Given the description of an element on the screen output the (x, y) to click on. 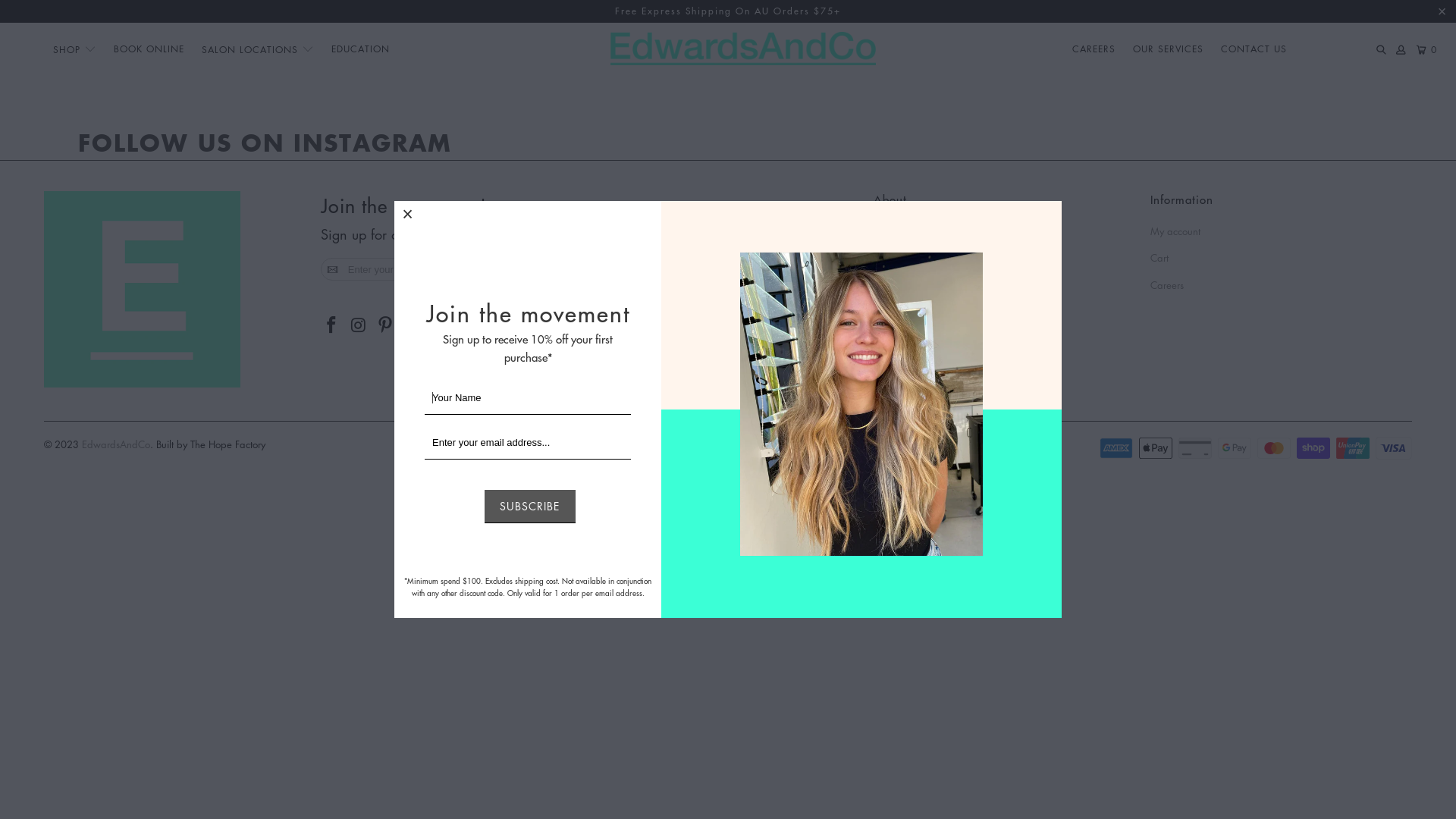
0 Element type: text (1427, 49)
BOOK ONLINE Element type: text (148, 49)
OUR SERVICES Element type: text (1167, 49)
Privacy Policy Element type: text (1004, 366)
EdwardsAndCo Element type: hover (742, 49)
Cart Element type: text (1281, 258)
EdwardsAndCo on Pinterest Element type: hover (385, 325)
EdwardsAndCo on Instagram Element type: hover (358, 325)
EDUCATION Element type: text (360, 49)
Search Element type: hover (1380, 49)
My Account  Element type: hover (1401, 49)
EdwardsAndCo Element type: text (115, 444)
FAQs Salon Appointments Element type: text (1004, 230)
FAQs Online Orders Element type: text (1004, 258)
CONTACT US Element type: text (1253, 49)
My account Element type: text (1281, 230)
Close Element type: hover (407, 214)
Careers Element type: text (1281, 285)
Terms and Conditions Element type: text (1004, 340)
SUBSCRIBE Element type: text (528, 506)
SASS & BIDE T&C's Element type: text (1004, 312)
Terms and Conditions - Gift Cards Element type: text (1004, 285)
EdwardsAndCo on Facebook Element type: hover (331, 325)
Brands Element type: text (1004, 393)
CAREERS Element type: text (1093, 49)
